Given the description of an element on the screen output the (x, y) to click on. 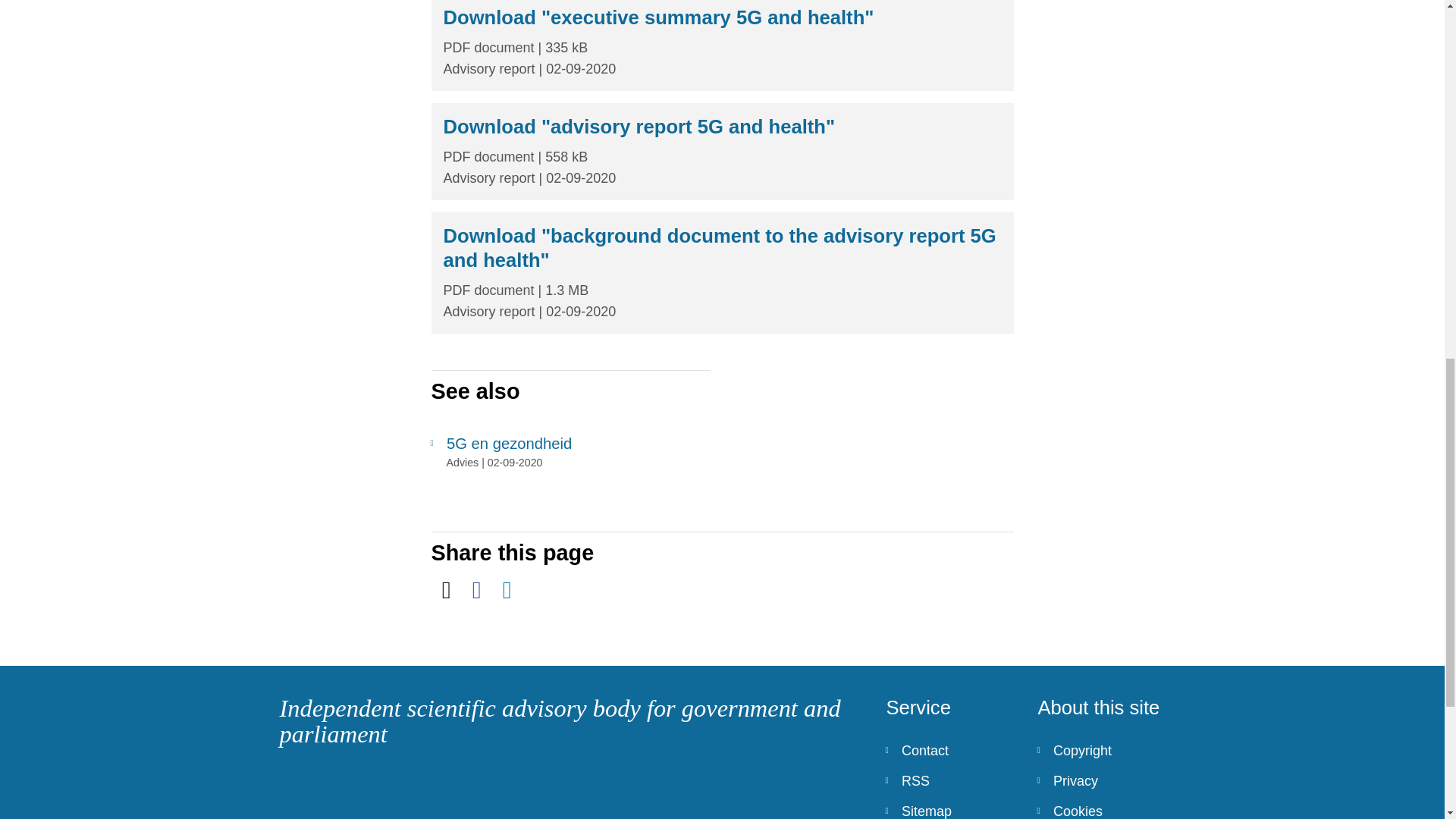
Share this page on your Twitter account (445, 589)
Contact (949, 750)
Share this page on your LinkedIn account (506, 589)
Cookies (1100, 807)
Privacy (1100, 780)
RSS (949, 780)
Copyright (1100, 750)
Sitemap (949, 807)
5G en gezondheid (570, 443)
Share this page on your Facebook account (476, 589)
